Given the description of an element on the screen output the (x, y) to click on. 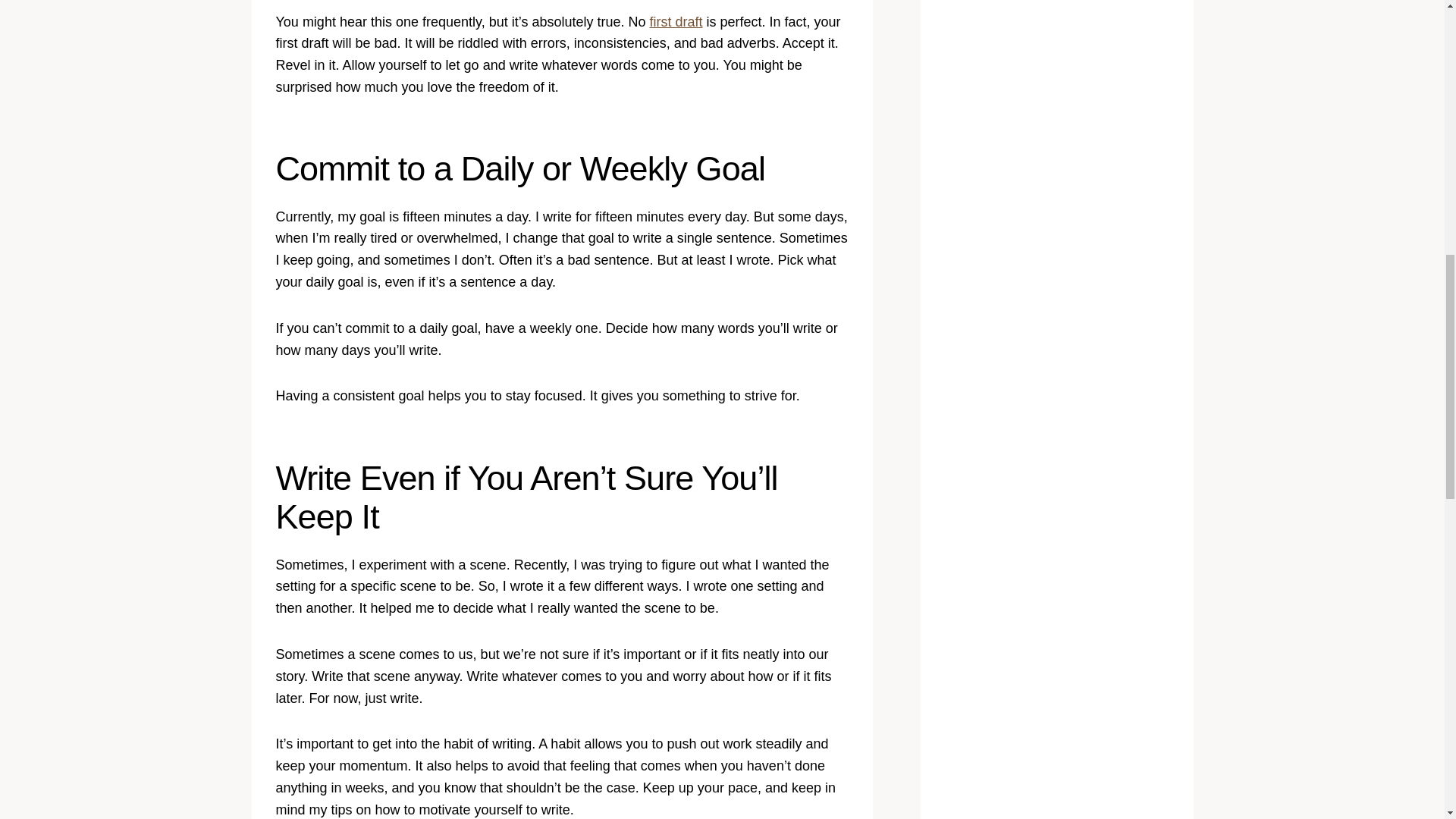
first draft (675, 21)
